Given the description of an element on the screen output the (x, y) to click on. 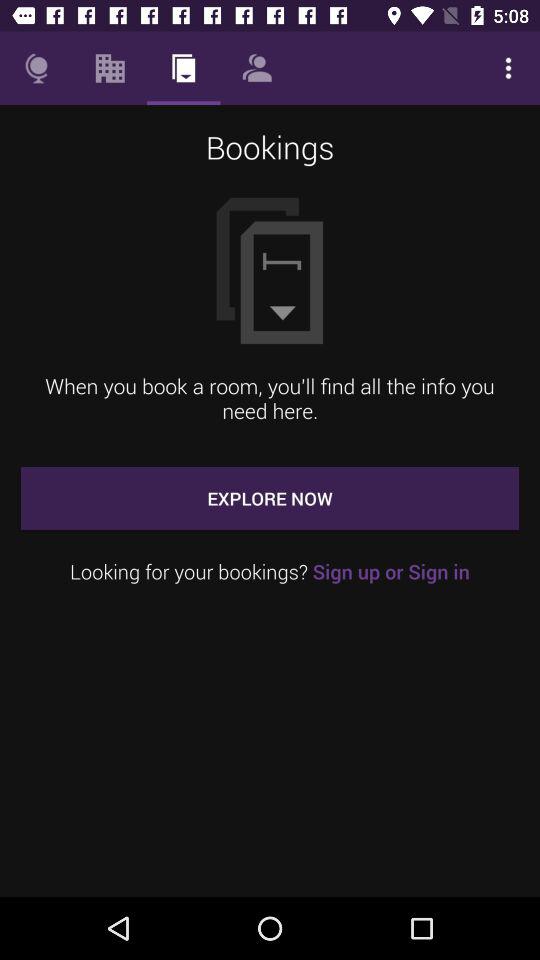
swipe to the explore now item (270, 497)
